Given the description of an element on the screen output the (x, y) to click on. 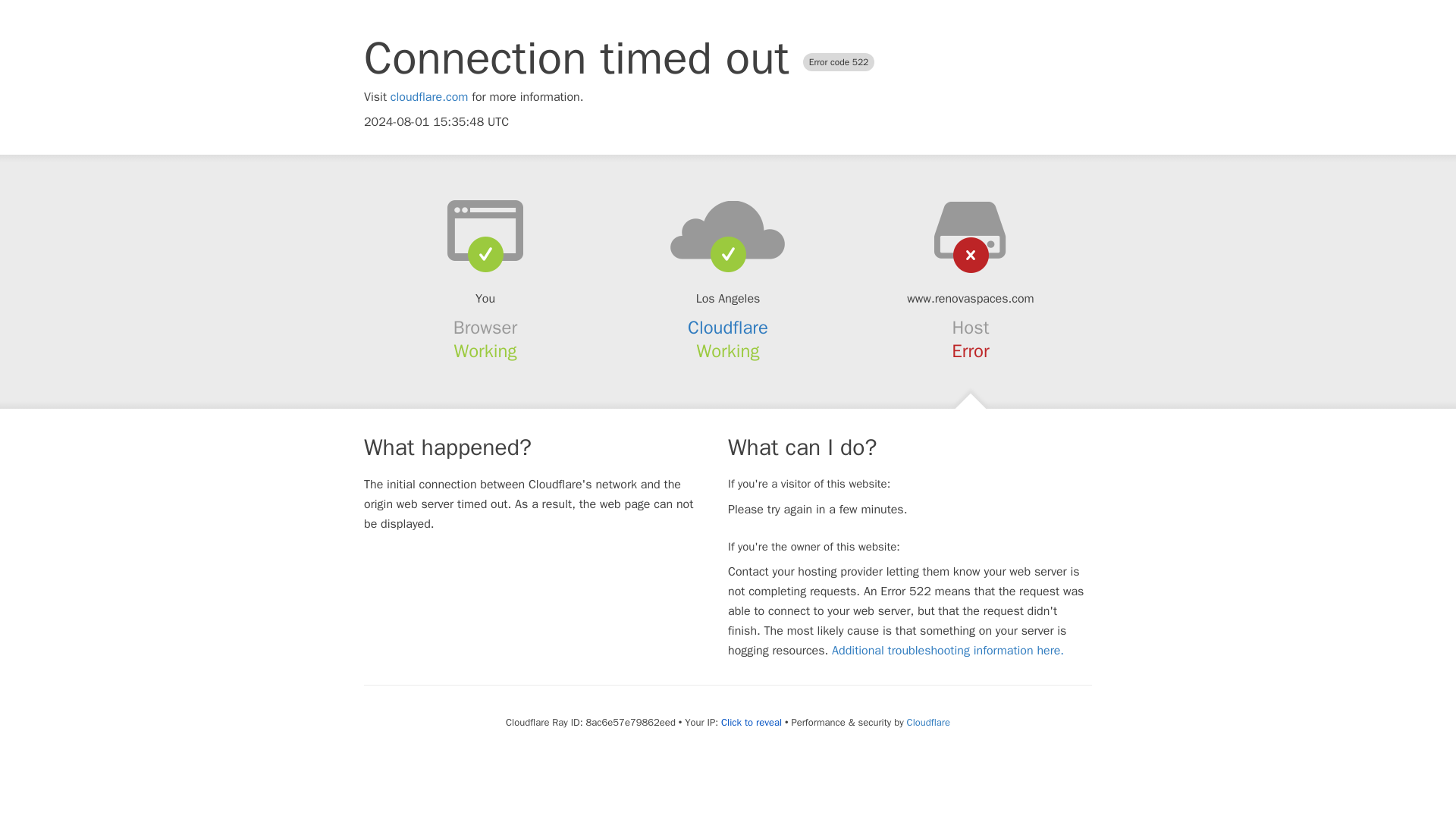
Click to reveal (750, 722)
Additional troubleshooting information here. (947, 650)
Cloudflare (727, 327)
cloudflare.com (429, 96)
Cloudflare (928, 721)
